Given the description of an element on the screen output the (x, y) to click on. 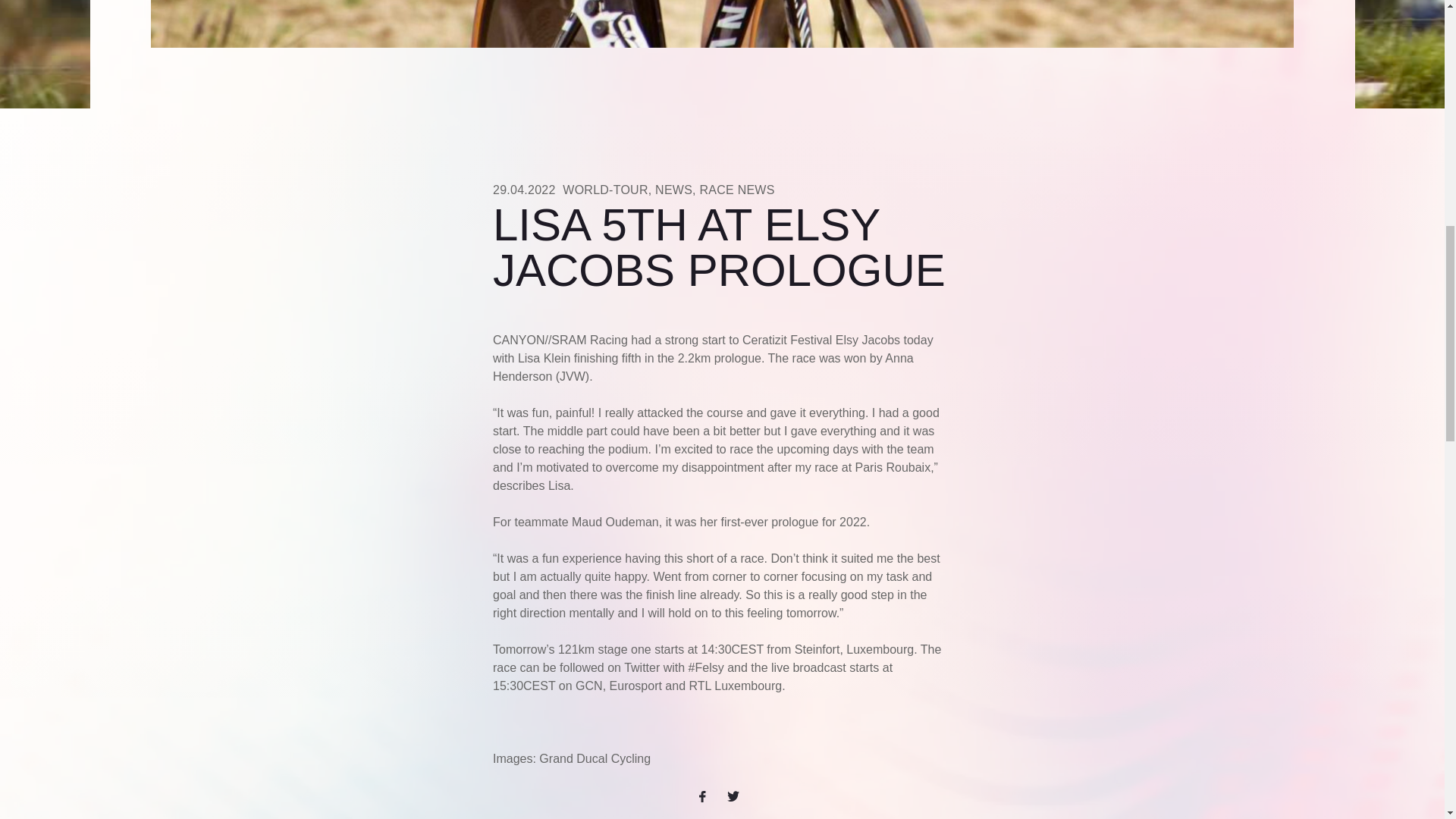
RACE NEWS (736, 189)
NEWS (674, 189)
WORLD-TOUR (604, 189)
facebook (708, 795)
twitter (735, 795)
